Given the description of an element on the screen output the (x, y) to click on. 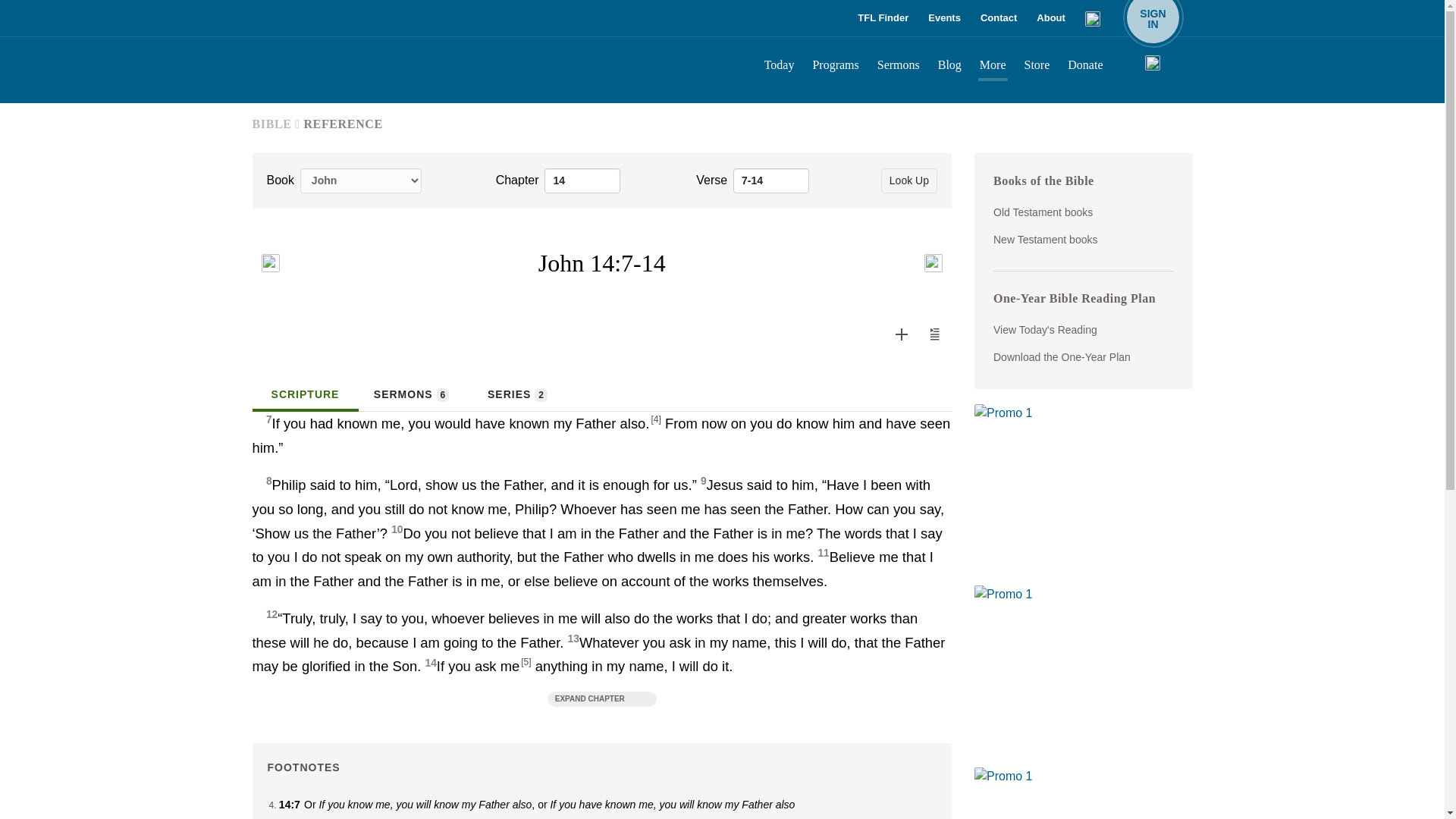
14 (582, 180)
Today (779, 66)
Events (943, 18)
Truth For Life (365, 68)
About (1152, 18)
Add to My Library (1050, 18)
Contact (901, 334)
7-14 (998, 18)
cart (771, 180)
